Given the description of an element on the screen output the (x, y) to click on. 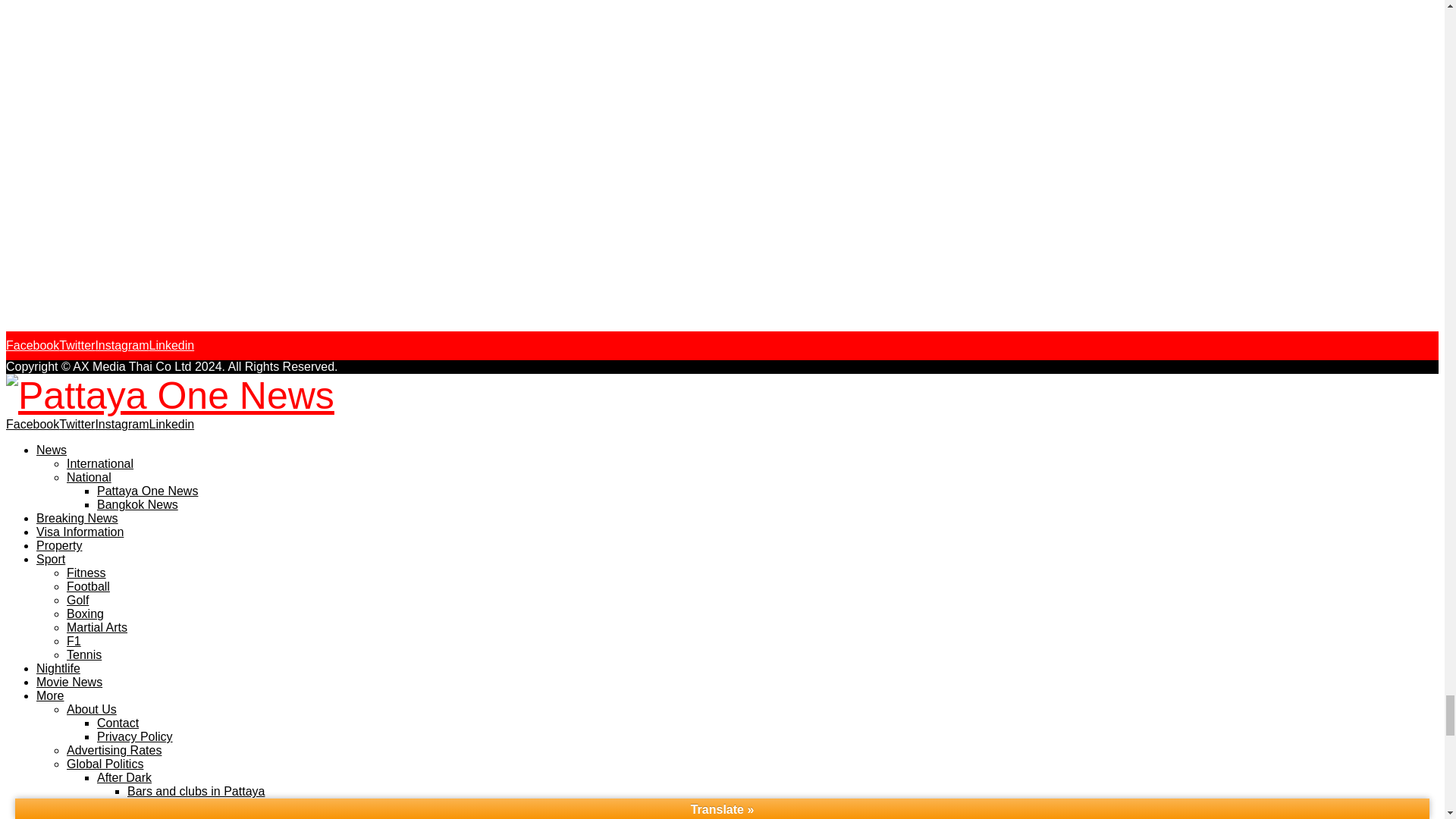
Twitter (76, 345)
Instagram (121, 345)
Linkedin (172, 345)
Facebook (32, 345)
